Given the description of an element on the screen output the (x, y) to click on. 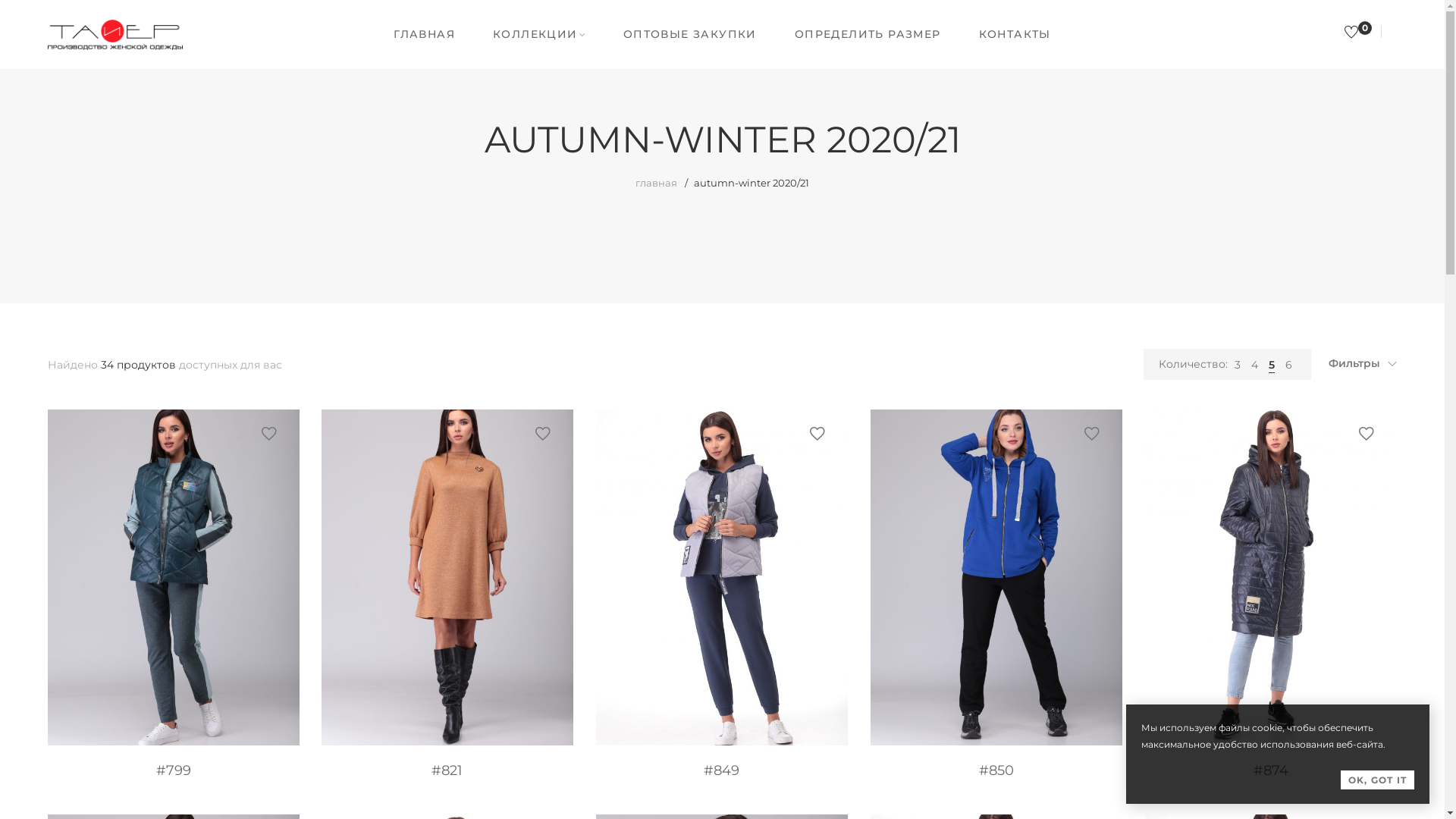
#821 2 Element type: hover (447, 577)
#850 Element type: text (996, 770)
OK, GOT IT Element type: text (1377, 779)
#799 Element type: text (173, 770)
6 Element type: text (1288, 364)
#849 3 Element type: hover (721, 577)
0 Element type: text (1352, 33)
#874 5 Element type: hover (1270, 577)
#850 4 Element type: hover (996, 577)
#799 1 Element type: hover (173, 577)
3 Element type: text (1237, 364)
4 Element type: text (1254, 364)
#821 Element type: text (446, 770)
#849 Element type: text (721, 770)
5 Element type: text (1271, 364)
#874 Element type: text (1270, 770)
